Given the description of an element on the screen output the (x, y) to click on. 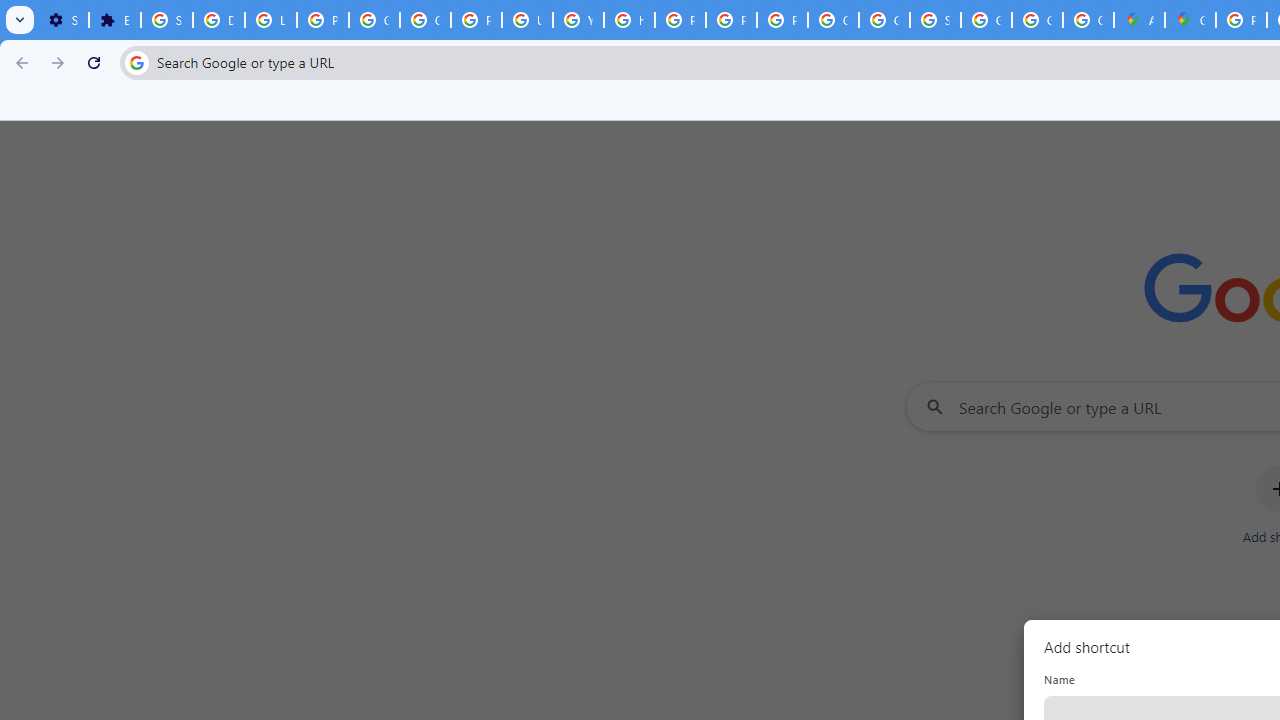
Privacy Help Center - Policies Help (680, 20)
